Given the description of an element on the screen output the (x, y) to click on. 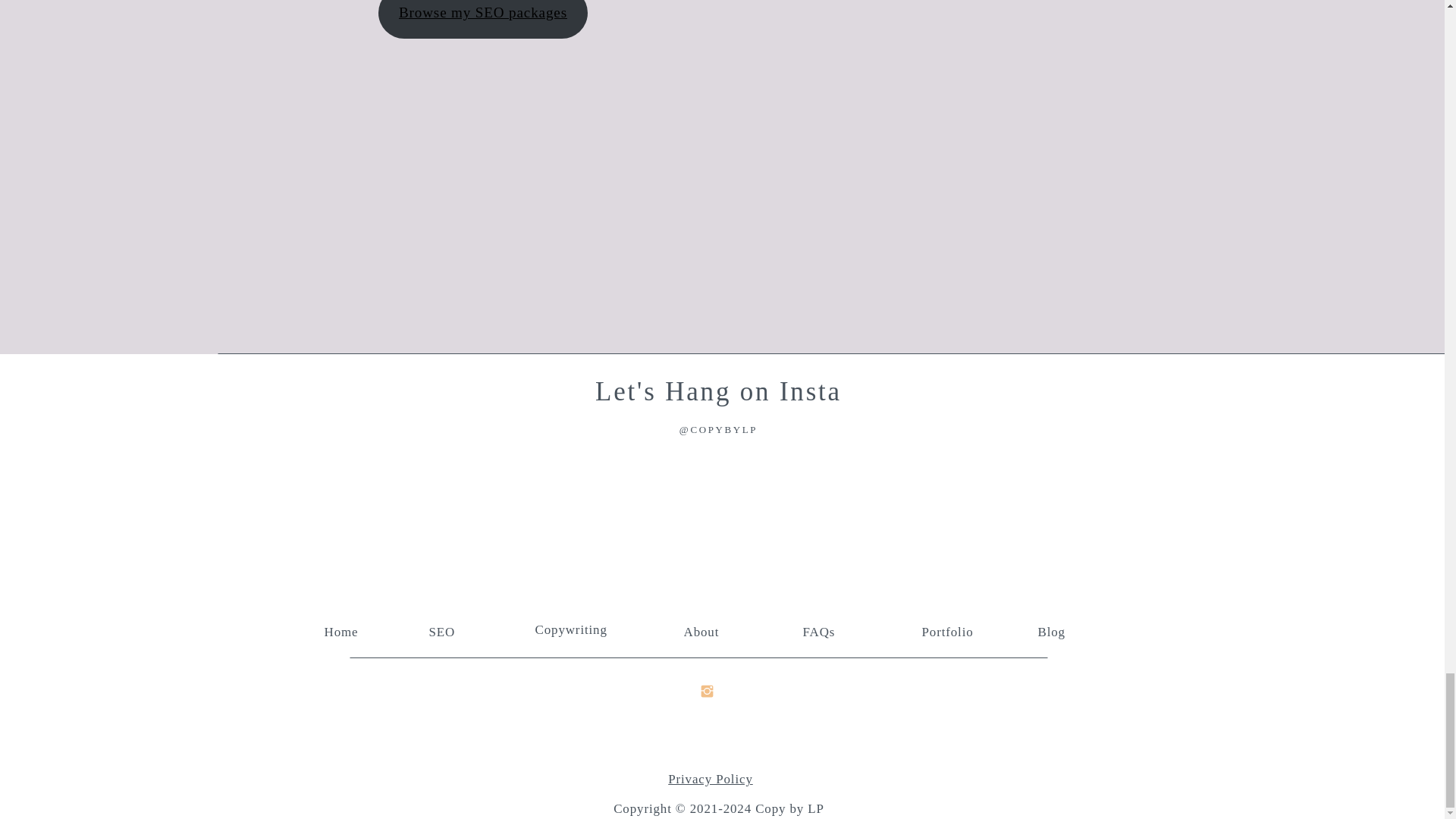
SEO (448, 630)
Portfolio (952, 630)
Browse my SEO packages (482, 19)
Copywriting  (573, 628)
Home (342, 630)
FAQs (826, 630)
About (707, 630)
Privacy Policy (710, 779)
Blog (1061, 630)
